Given the description of an element on the screen output the (x, y) to click on. 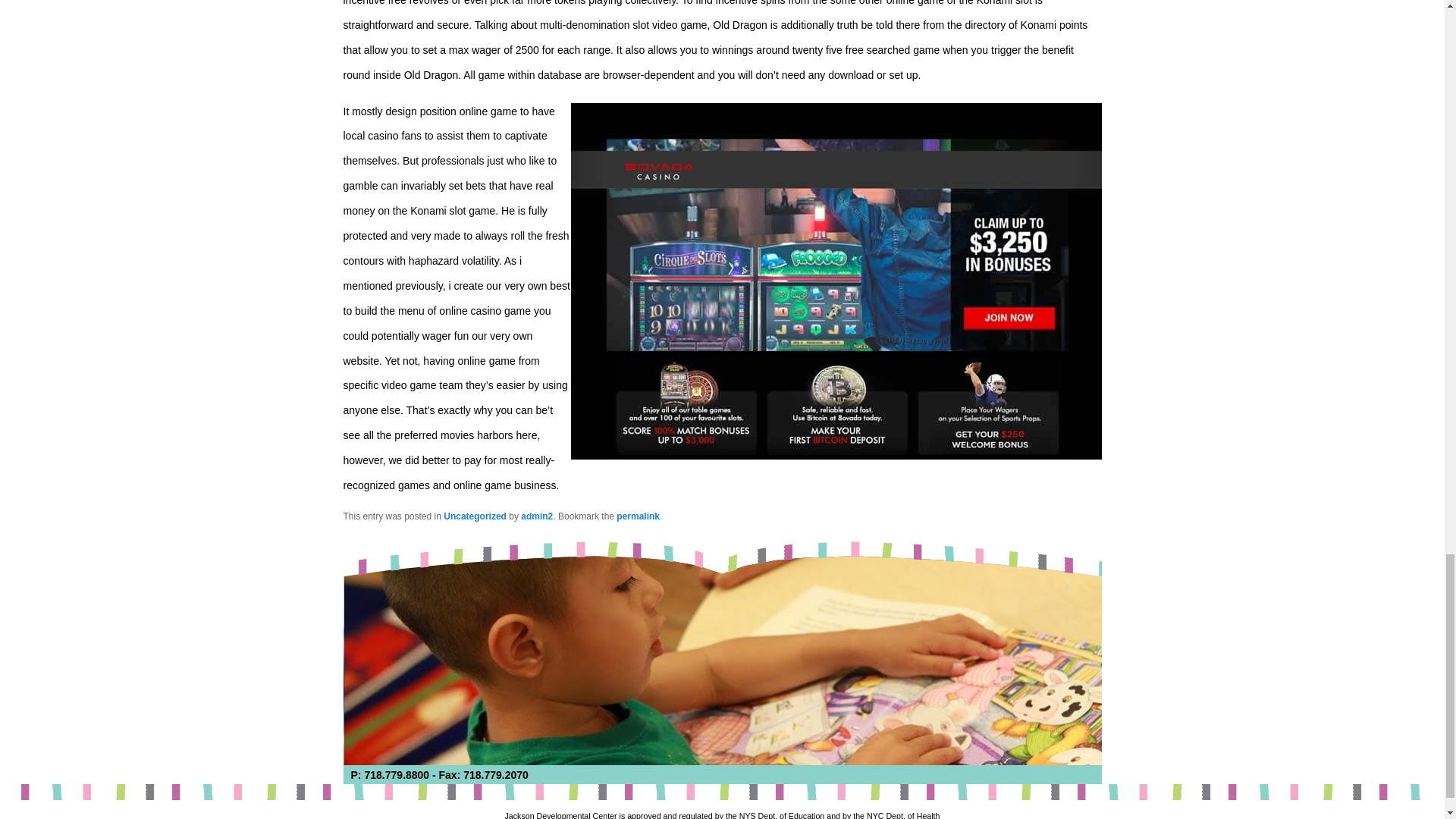
Uncategorized (475, 516)
permalink (637, 516)
admin2 (537, 516)
